Given the description of an element on the screen output the (x, y) to click on. 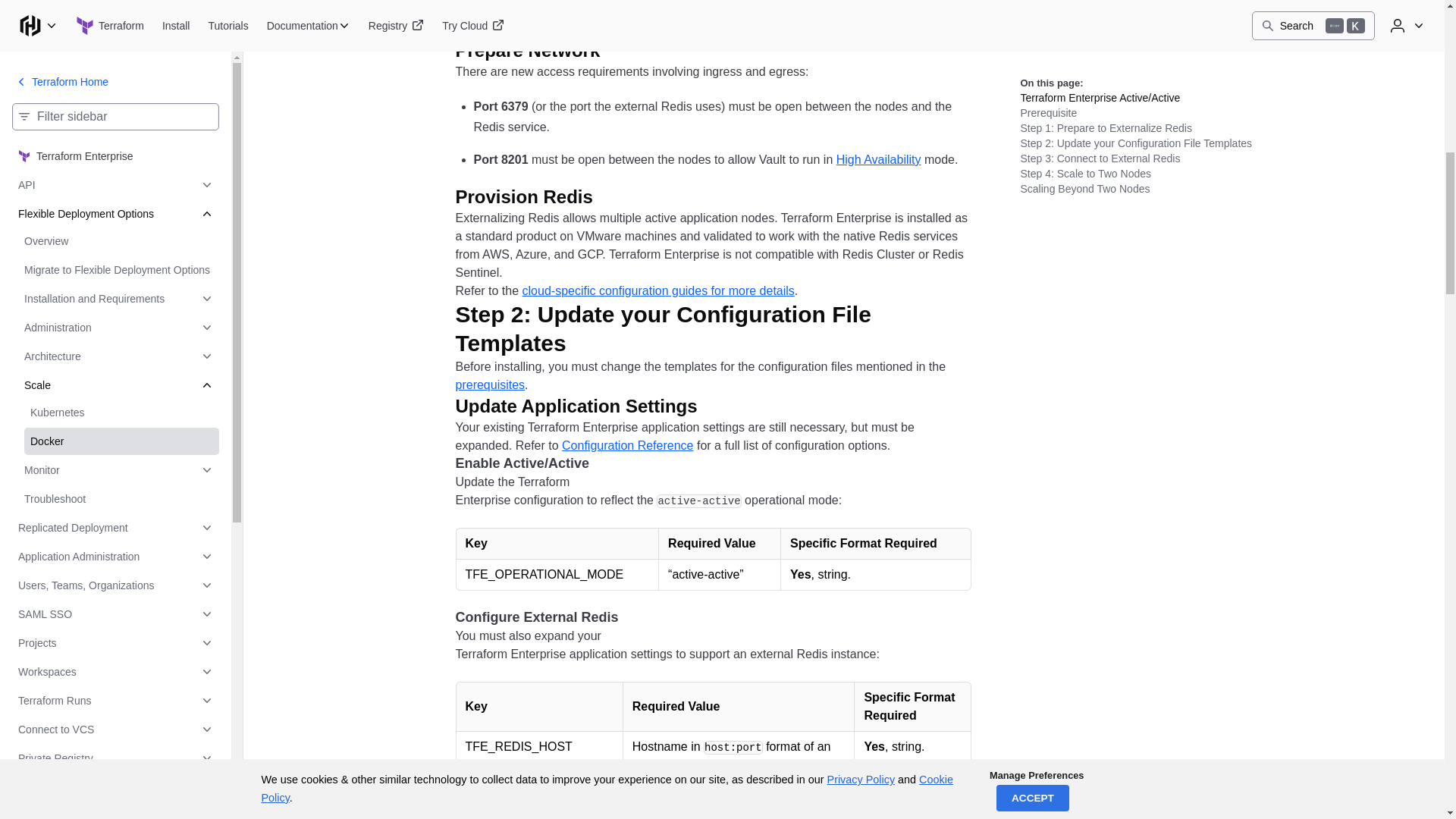
Configure External Redis (548, 618)
Update Application Settings (587, 405)
Provision Redis (534, 197)
Prepare Network (539, 50)
Step 2: Update your Configuration File Templates (712, 328)
